Given the description of an element on the screen output the (x, y) to click on. 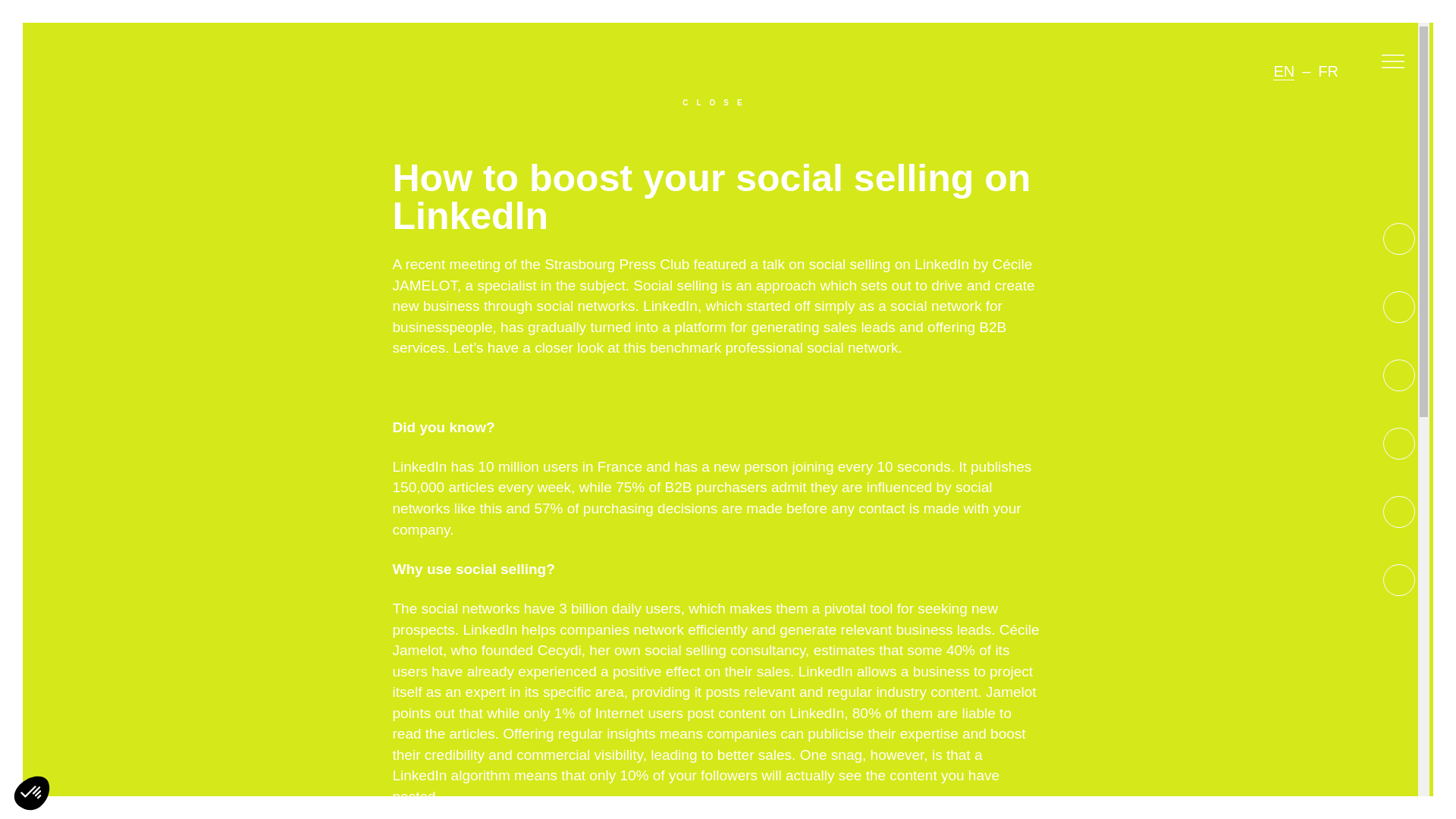
CLOSE (715, 98)
Suivez nous sur Instagram (1398, 443)
Suivez nous sur Pinterest (1398, 375)
Menu (1392, 64)
FR (1327, 71)
Suivez nous sur Linkedin (1398, 580)
Suivez nous sur Twitter (1398, 306)
Suivez nous sur Vimeo (1398, 511)
Suivez nous sur Facebook (1398, 238)
EN (1283, 71)
